Given the description of an element on the screen output the (x, y) to click on. 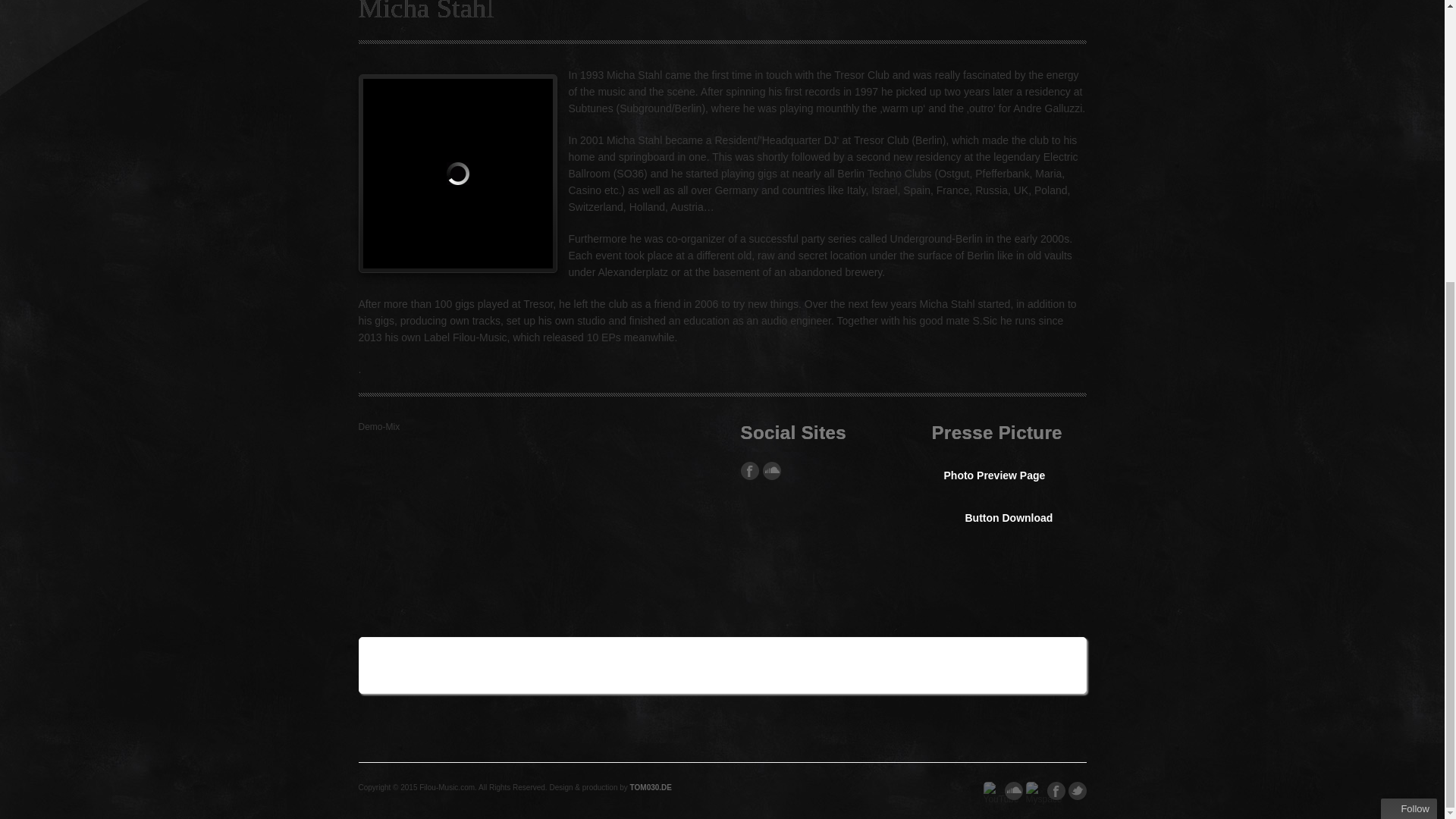
Follow us on twitter (1076, 791)
Follow (1408, 386)
Twitter (386, 665)
Technik ohne Macken (650, 786)
del.icio.us (422, 665)
Digg (495, 665)
Soundcloud (1013, 791)
Reddit (604, 665)
Google (1034, 791)
StumbleUpon (531, 665)
Subscribe (1312, 536)
YouTube (991, 791)
Button Download (997, 517)
LinkedIn (459, 665)
Photo Preview Page (994, 474)
